Given the description of an element on the screen output the (x, y) to click on. 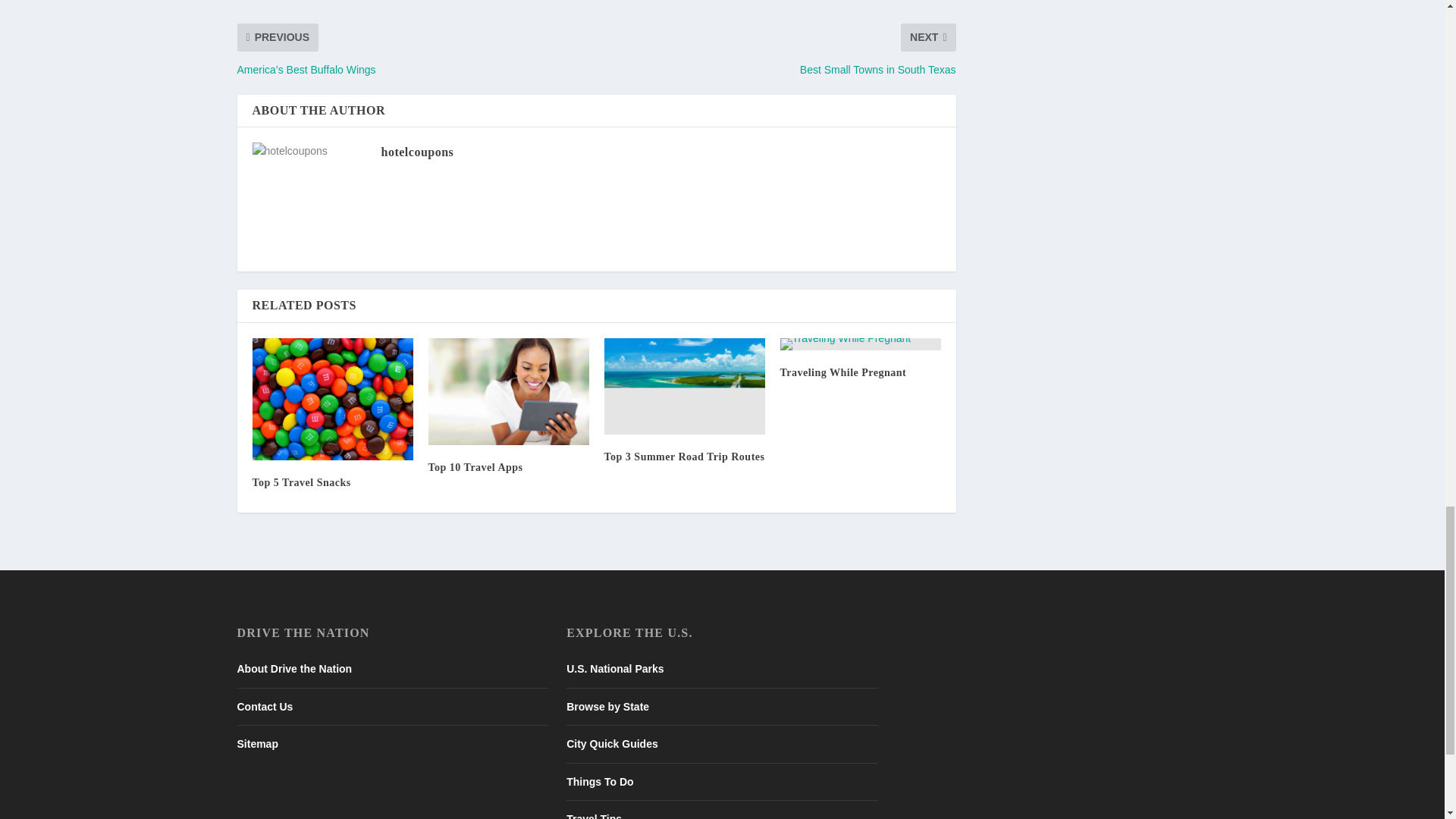
View all posts by hotelcoupons (416, 151)
Top 3 Summer Road Trip Routes (684, 386)
Traveling While Pregnant (859, 344)
Top 5 Travel Snacks (331, 399)
Top 10 Travel Apps (508, 391)
